Given the description of an element on the screen output the (x, y) to click on. 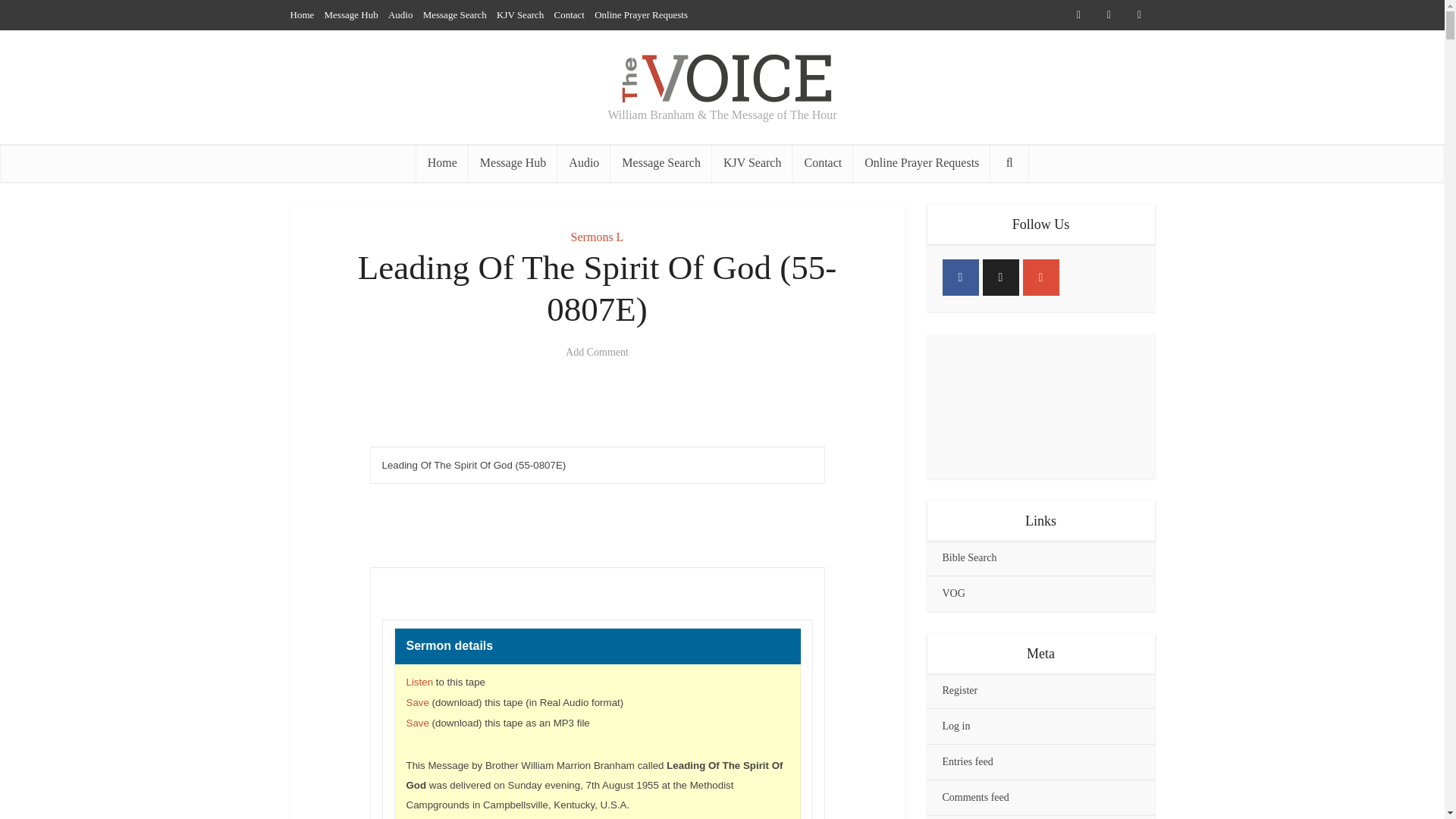
Message Hub (512, 162)
Audio (400, 14)
Listen (419, 681)
Home (442, 162)
MP3 sermon (417, 722)
William Branham (721, 71)
Save (417, 722)
KJV Search (752, 162)
Home (301, 14)
Message Hub (351, 14)
